Given the description of an element on the screen output the (x, y) to click on. 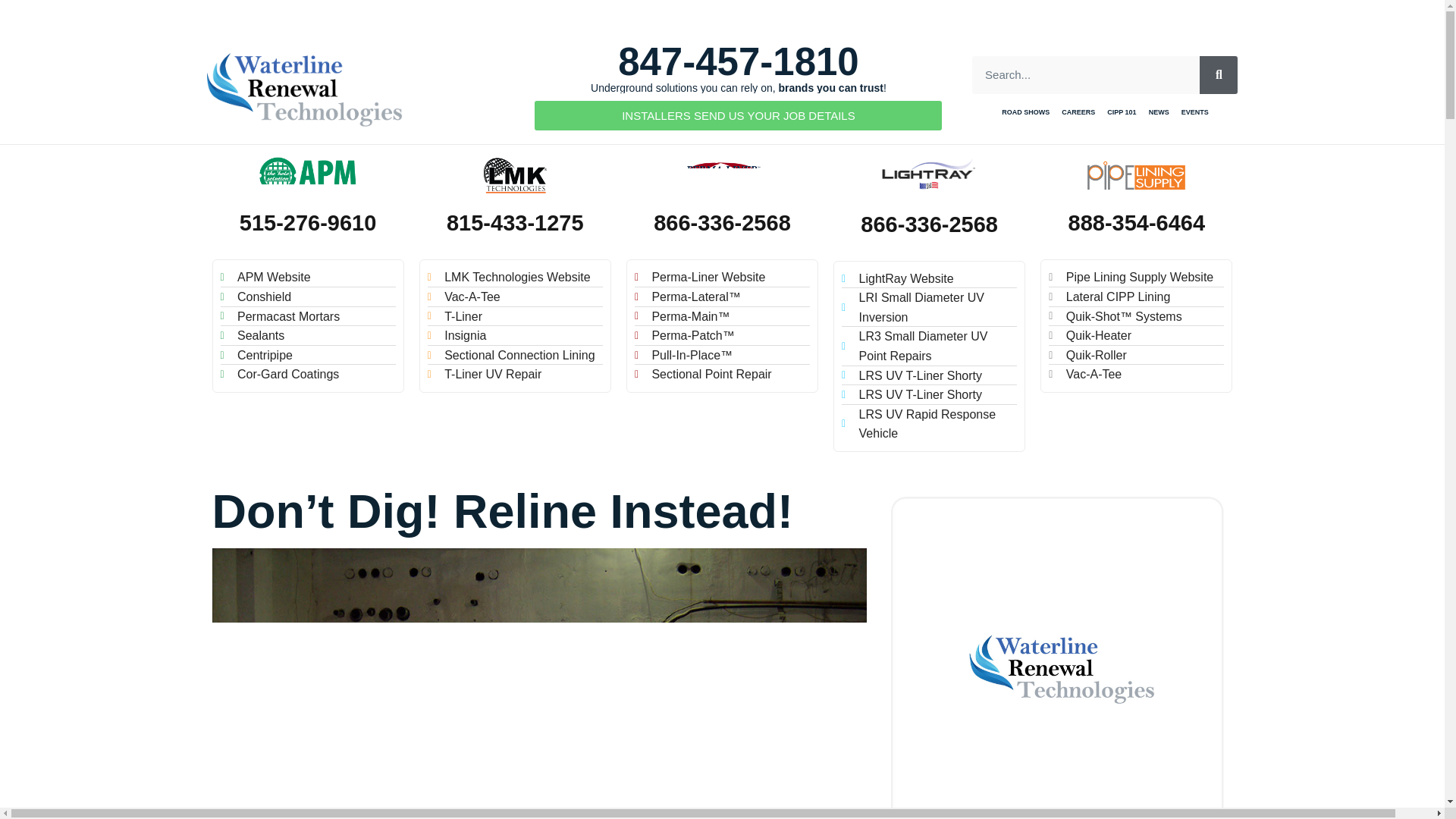
Centripipe (306, 355)
Vac-A-Tee (515, 297)
ROAD SHOWS (1025, 112)
Insignia (515, 335)
Sectional Point Repair (721, 374)
LMK Technologies Website (515, 277)
CIPP 101 (1120, 112)
T-Liner (515, 316)
Sealants (306, 335)
NEWS (1158, 112)
APM Website (306, 277)
LightRay Website (928, 279)
Cor-Gard Coatings (306, 374)
INSTALLERS SEND US YOUR JOB DETAILS (738, 115)
Search (1085, 75)
